Given the description of an element on the screen output the (x, y) to click on. 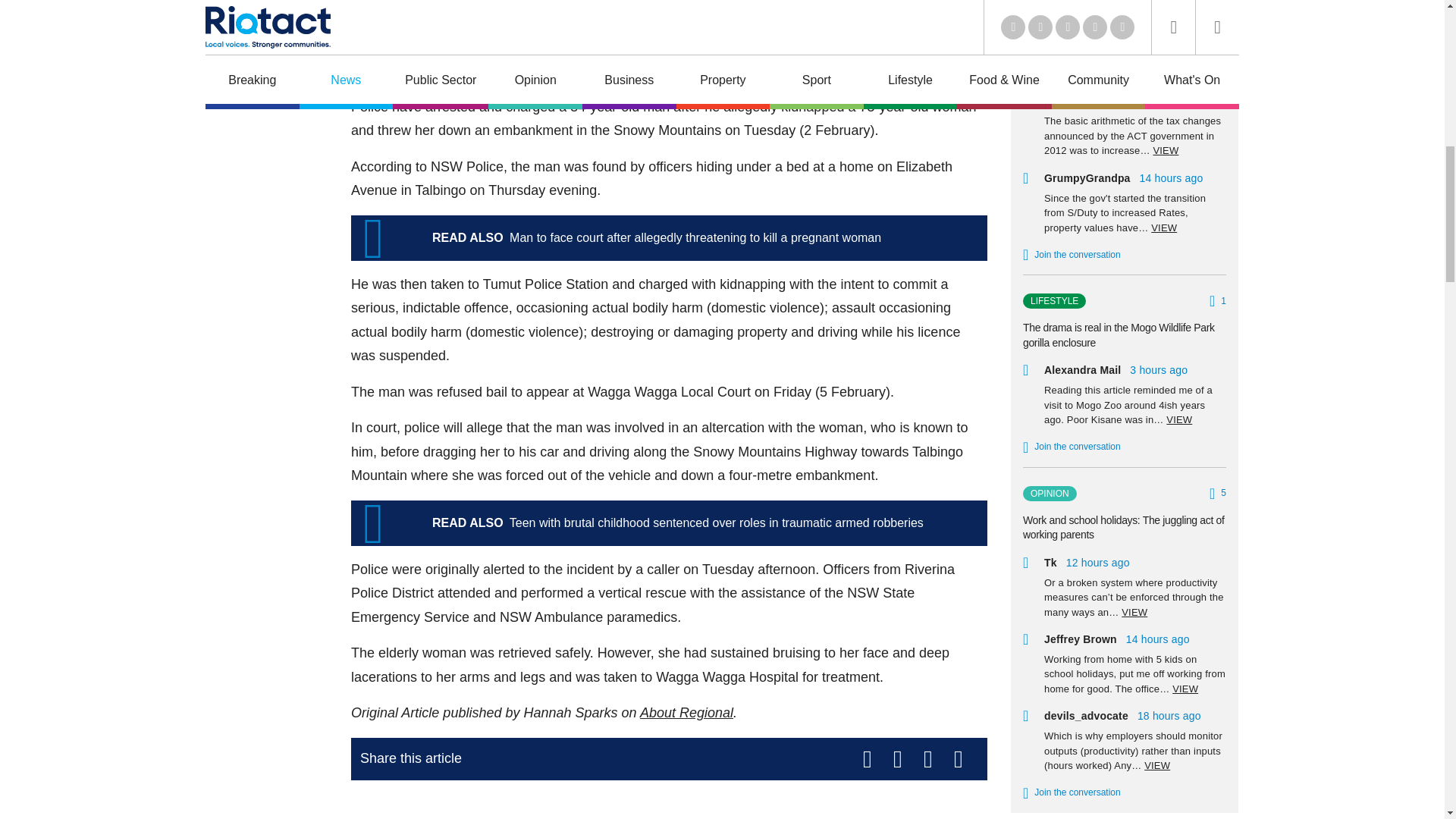
3rd party ad content (668, 805)
